Given the description of an element on the screen output the (x, y) to click on. 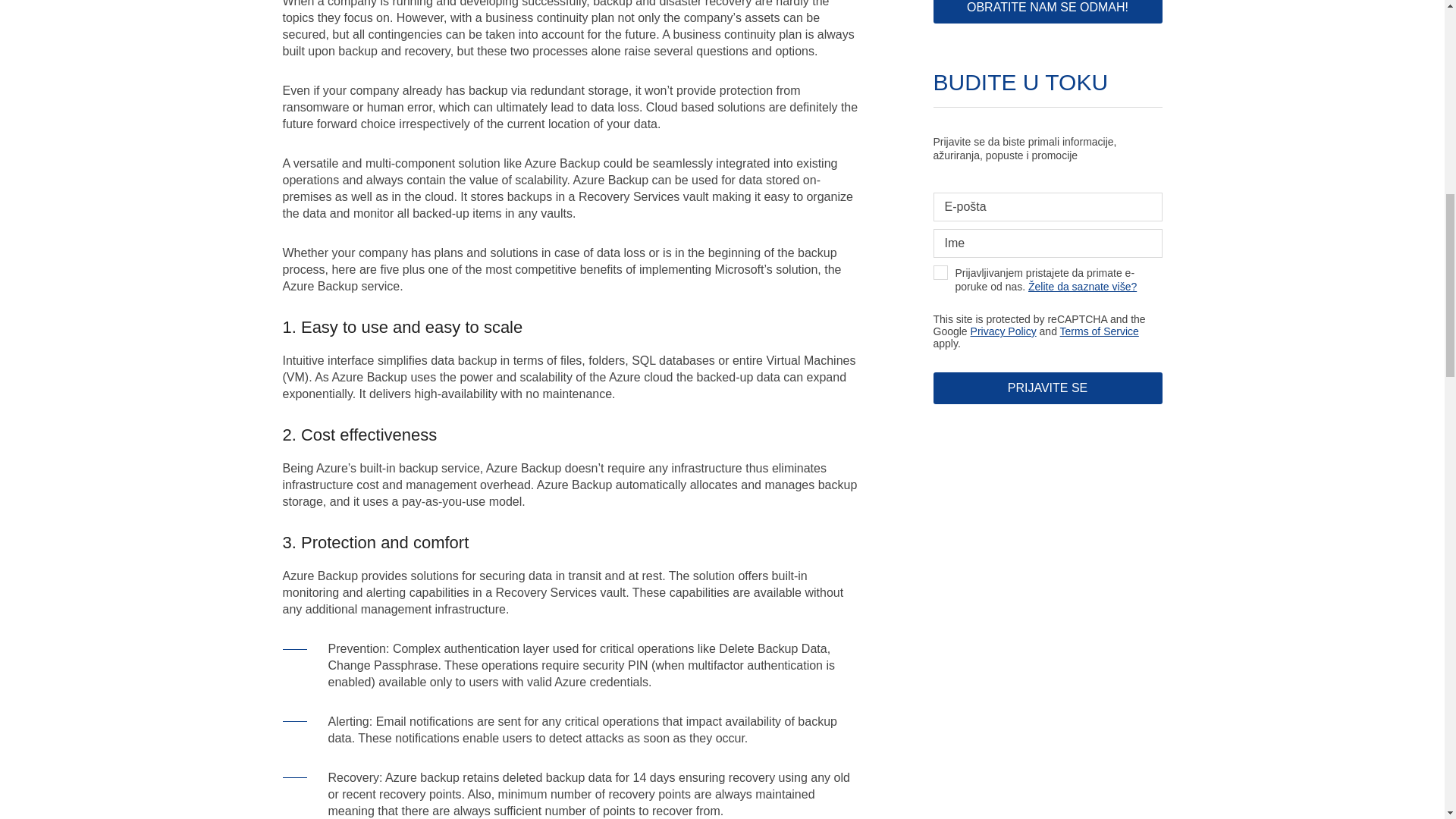
Prijavite se (1047, 388)
